Given the description of an element on the screen output the (x, y) to click on. 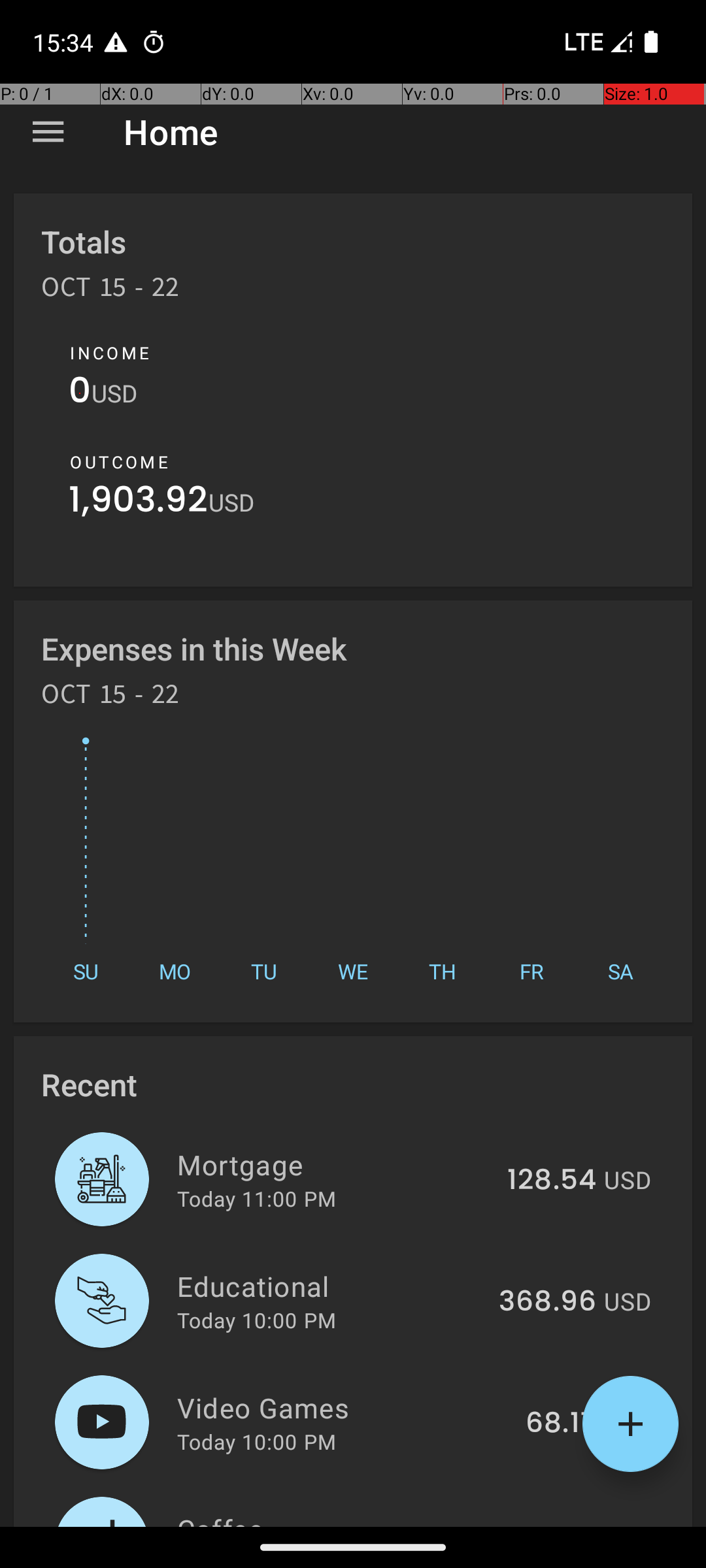
1,903.92 Element type: android.widget.TextView (138, 502)
Mortgage Element type: android.widget.TextView (334, 1164)
Today 11:00 PM Element type: android.widget.TextView (256, 1198)
128.54 Element type: android.widget.TextView (551, 1180)
Educational Element type: android.widget.TextView (330, 1285)
Today 10:00 PM Element type: android.widget.TextView (256, 1320)
368.96 Element type: android.widget.TextView (547, 1301)
Video Games Element type: android.widget.TextView (343, 1407)
68.17 Element type: android.widget.TextView (560, 1423)
Coffee Element type: android.widget.TextView (342, 1518)
251.11 Element type: android.widget.TextView (559, 1524)
